Given the description of an element on the screen output the (x, y) to click on. 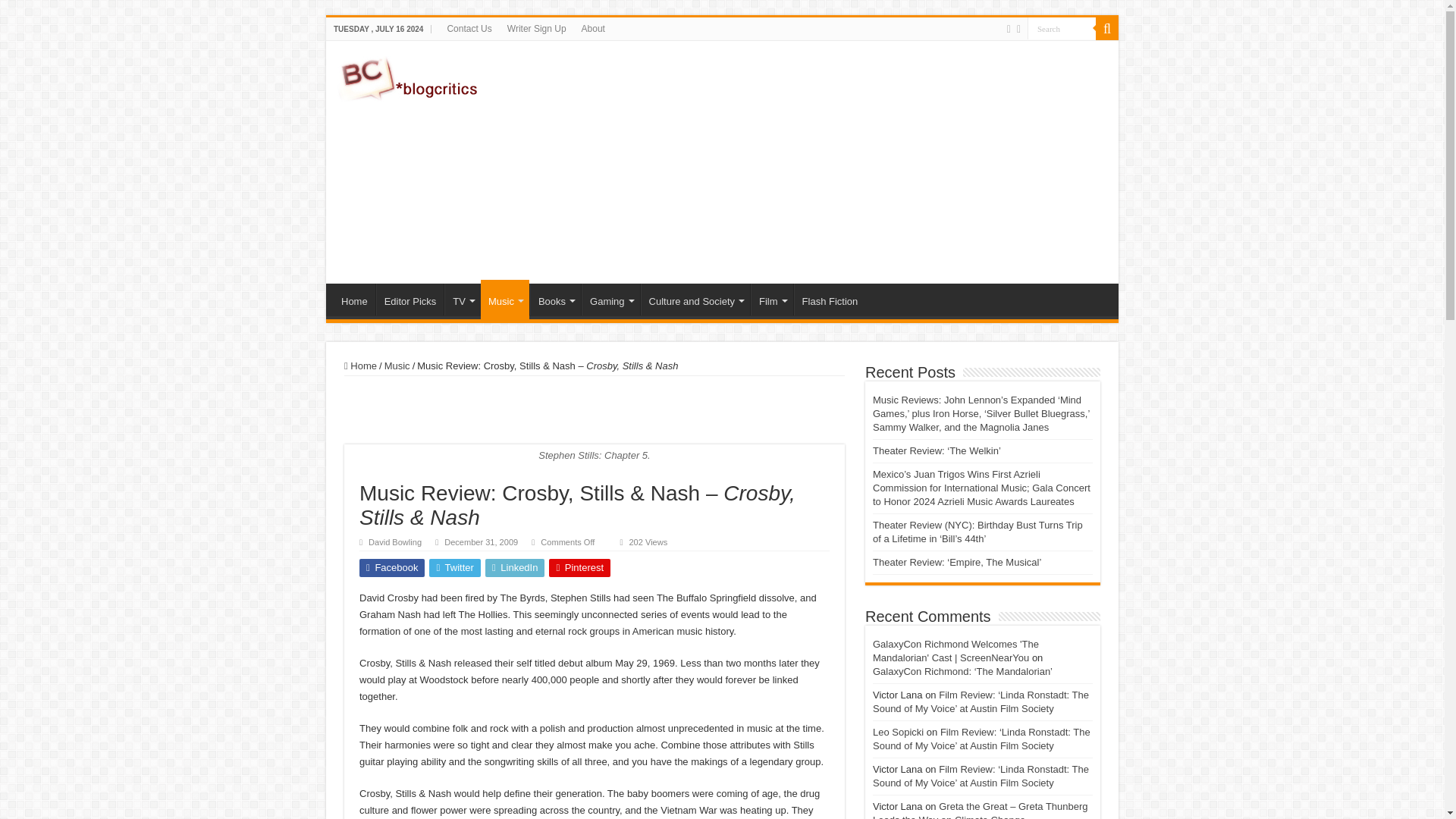
Advertisement (830, 162)
Search (1061, 28)
Blogcritics (409, 75)
Search (1061, 28)
Facebook (1008, 29)
Twitter (1018, 29)
Search (1061, 28)
